Given the description of an element on the screen output the (x, y) to click on. 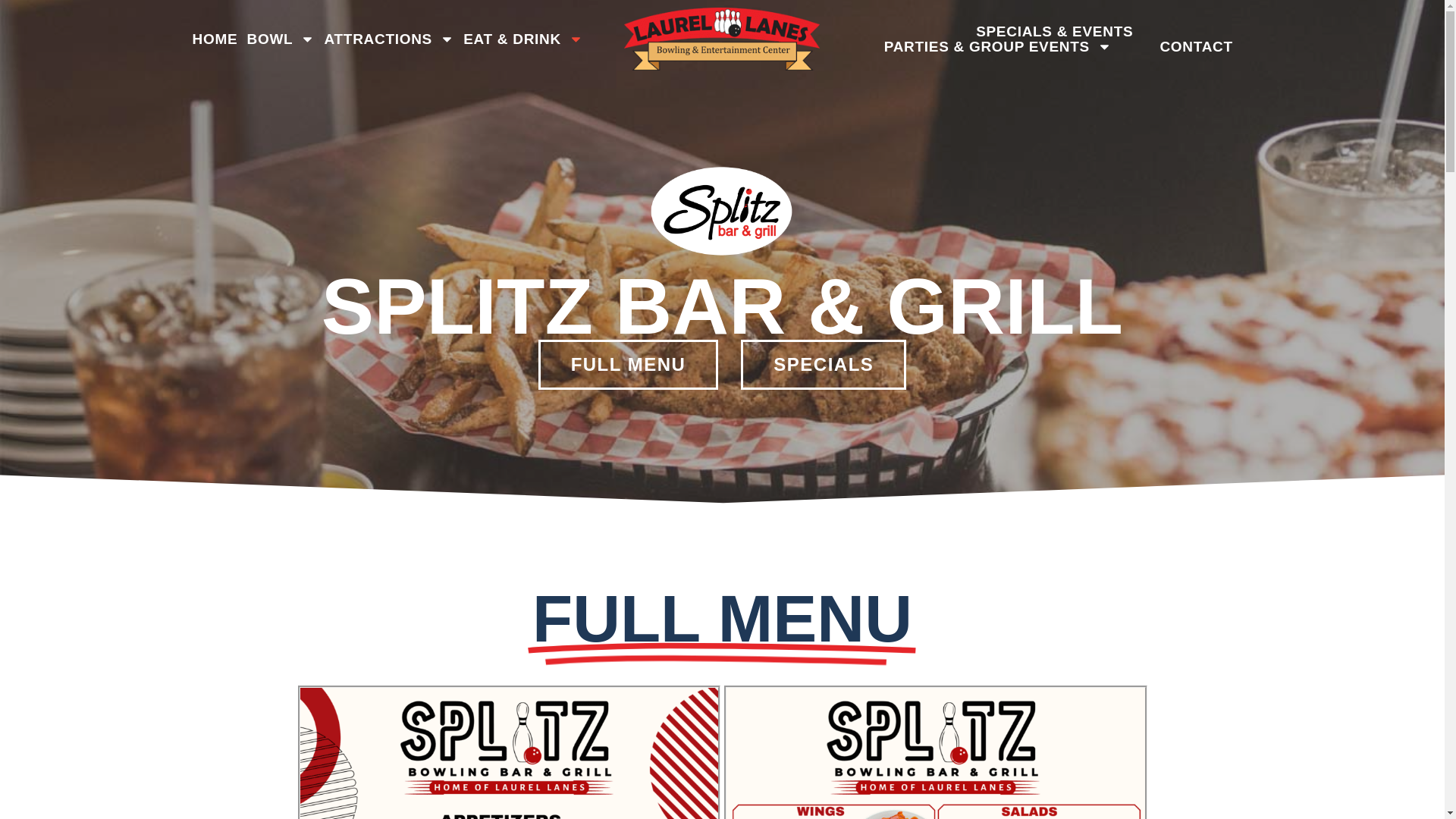
ATTRACTIONS (388, 38)
CONTACT (1196, 46)
BOWL (280, 38)
HOME (214, 38)
